Given the description of an element on the screen output the (x, y) to click on. 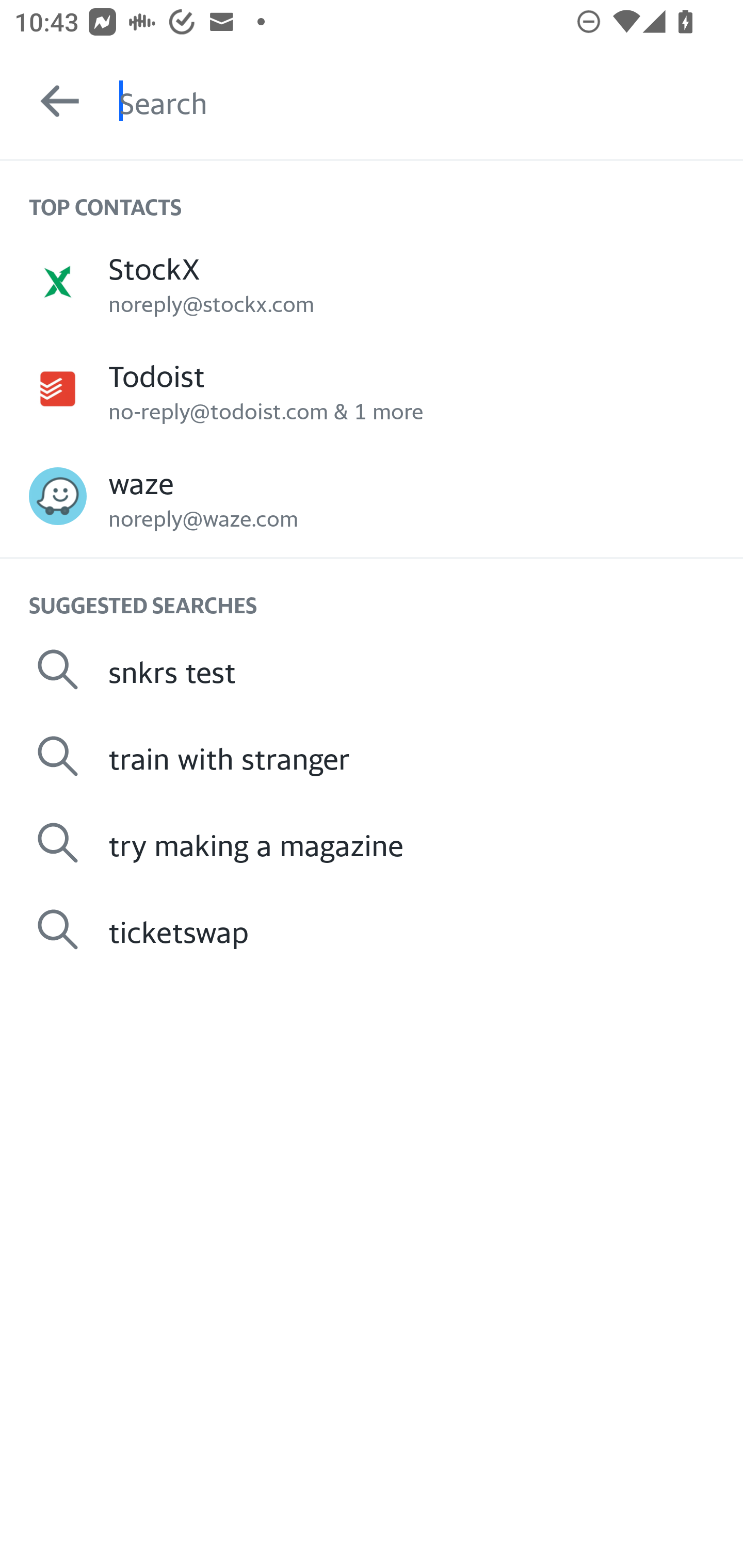
Back (50, 101)
Search (430, 101)
Top contacts StockX noreply@stockx.com (371, 281)
Top contacts Todoist no-reply@todoist.com & 1 more (371, 388)
Top contacts waze noreply@waze.com (371, 496)
Suggested searches snkrs test (371, 669)
Suggested searches train with stranger (371, 756)
Suggested searches try making a magazine (371, 842)
Suggested searches ticketswap (371, 928)
